Given the description of an element on the screen output the (x, y) to click on. 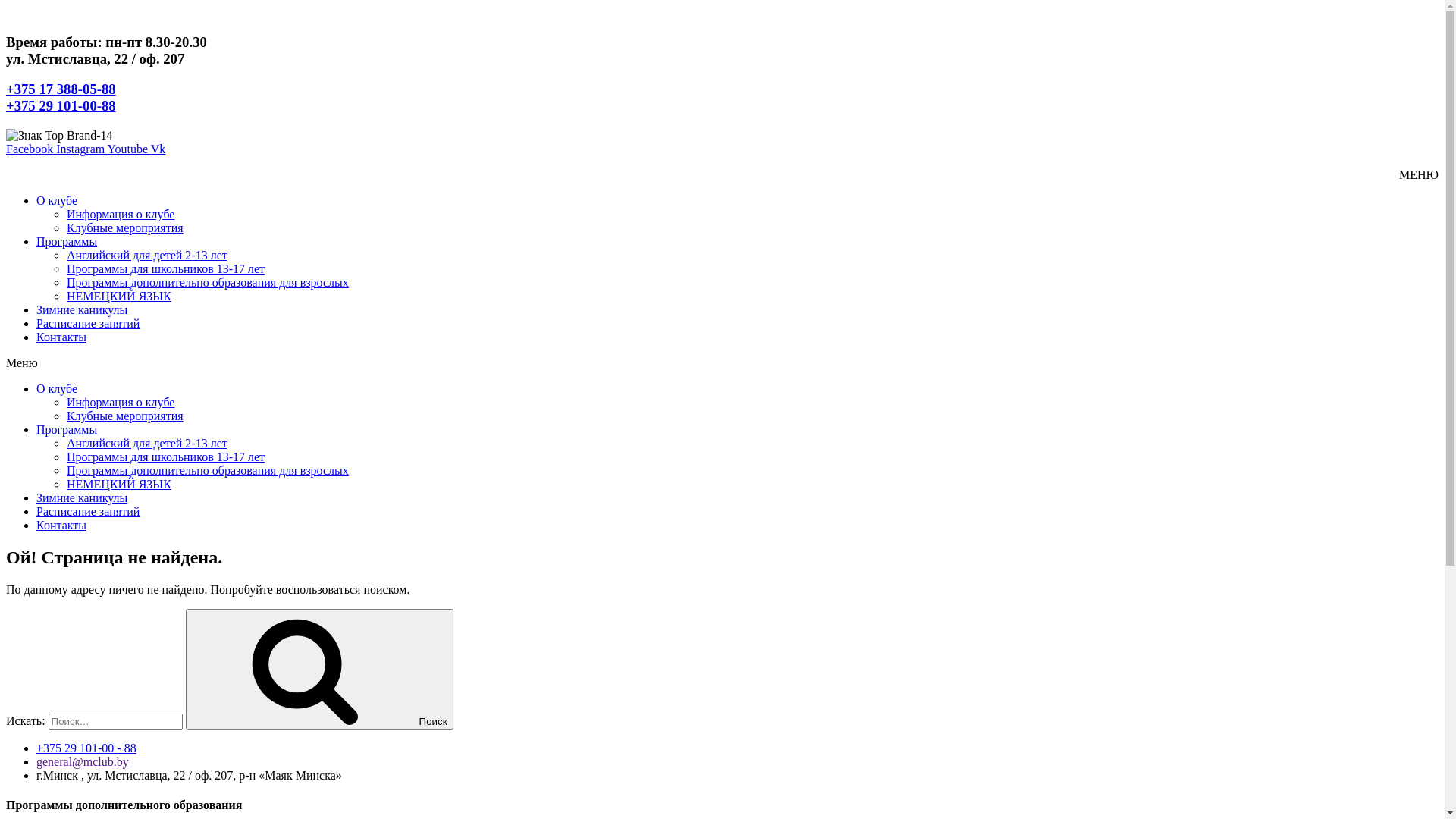
Facebook Element type: text (31, 148)
Youtube Element type: text (128, 148)
+375 29 101-00-88 Element type: text (61, 105)
+375 17 388-05-88 Element type: text (61, 89)
general@mclub.by Element type: text (82, 761)
Instagram Element type: text (81, 148)
+375 29 101-00 - 88 Element type: text (86, 747)
Vk Element type: text (158, 148)
